Given the description of an element on the screen output the (x, y) to click on. 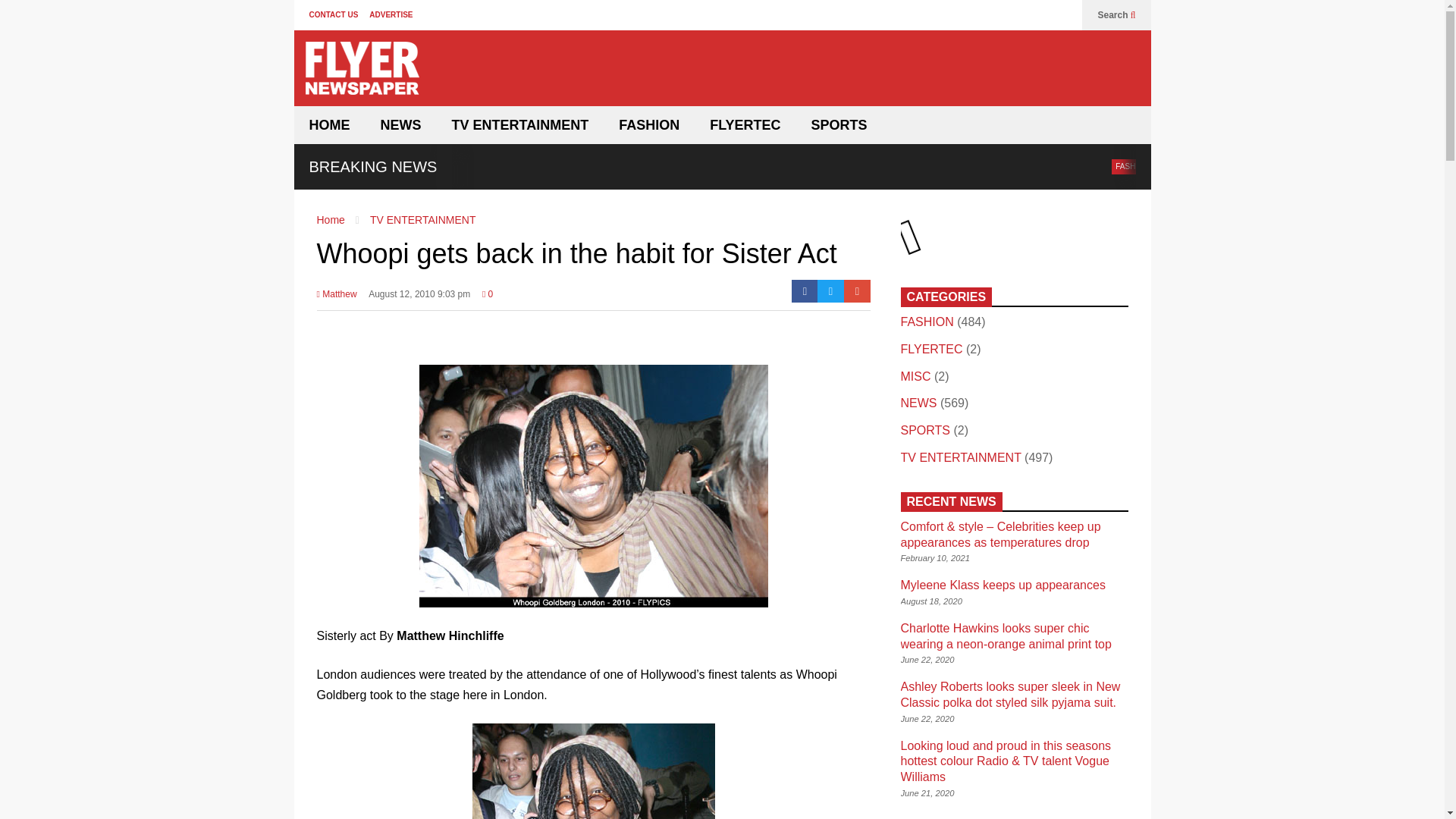
Matthew (336, 298)
HOME (329, 125)
NEWS (400, 125)
Facebook (805, 291)
August 12, 2010 9:03 pm (419, 298)
Google-plus (857, 291)
ADVERTISE (390, 14)
FASHION (1131, 166)
Flyer Newspaper (361, 74)
Twitter (830, 291)
